Given the description of an element on the screen output the (x, y) to click on. 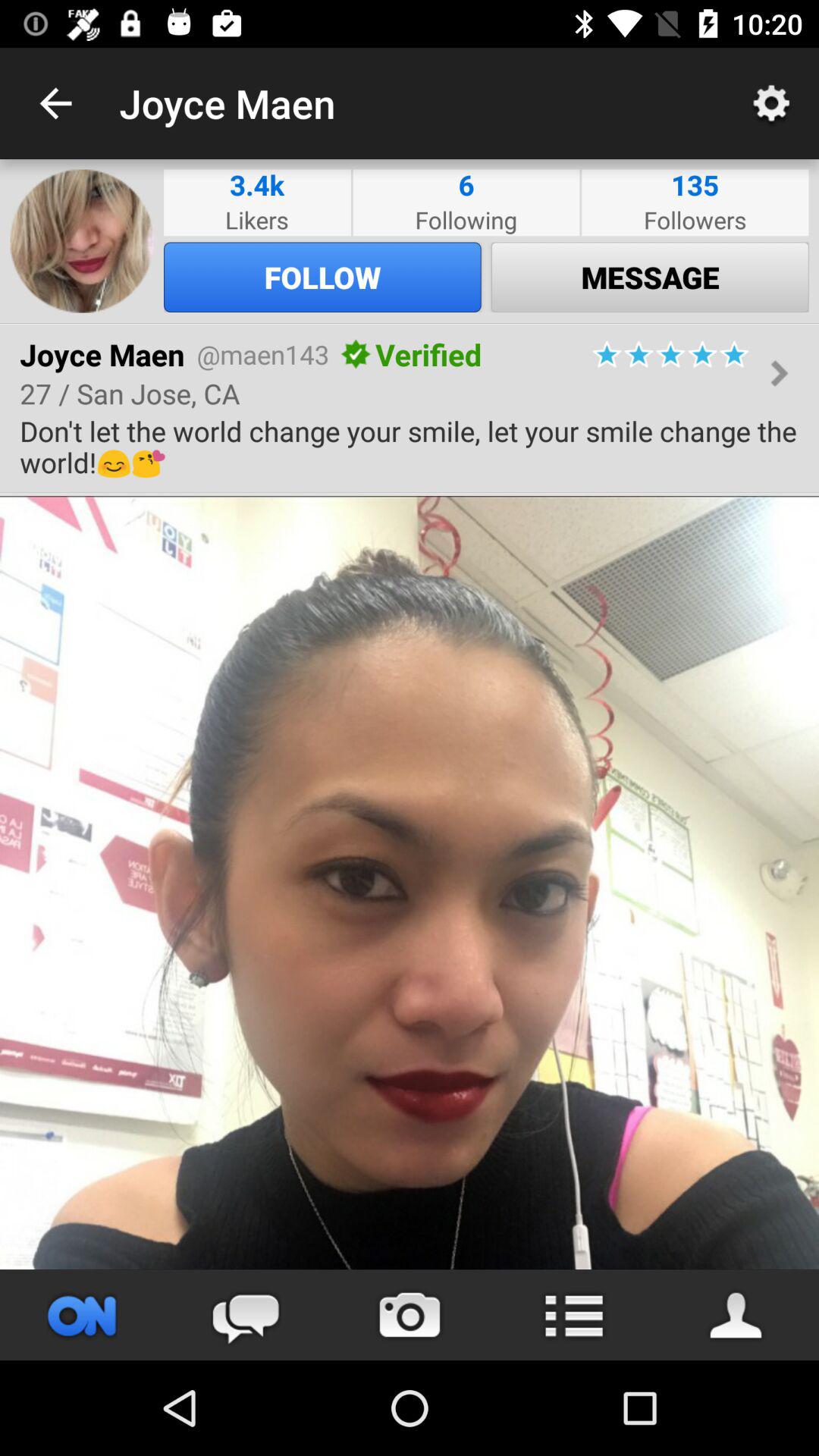
open chat (245, 1315)
